Given the description of an element on the screen output the (x, y) to click on. 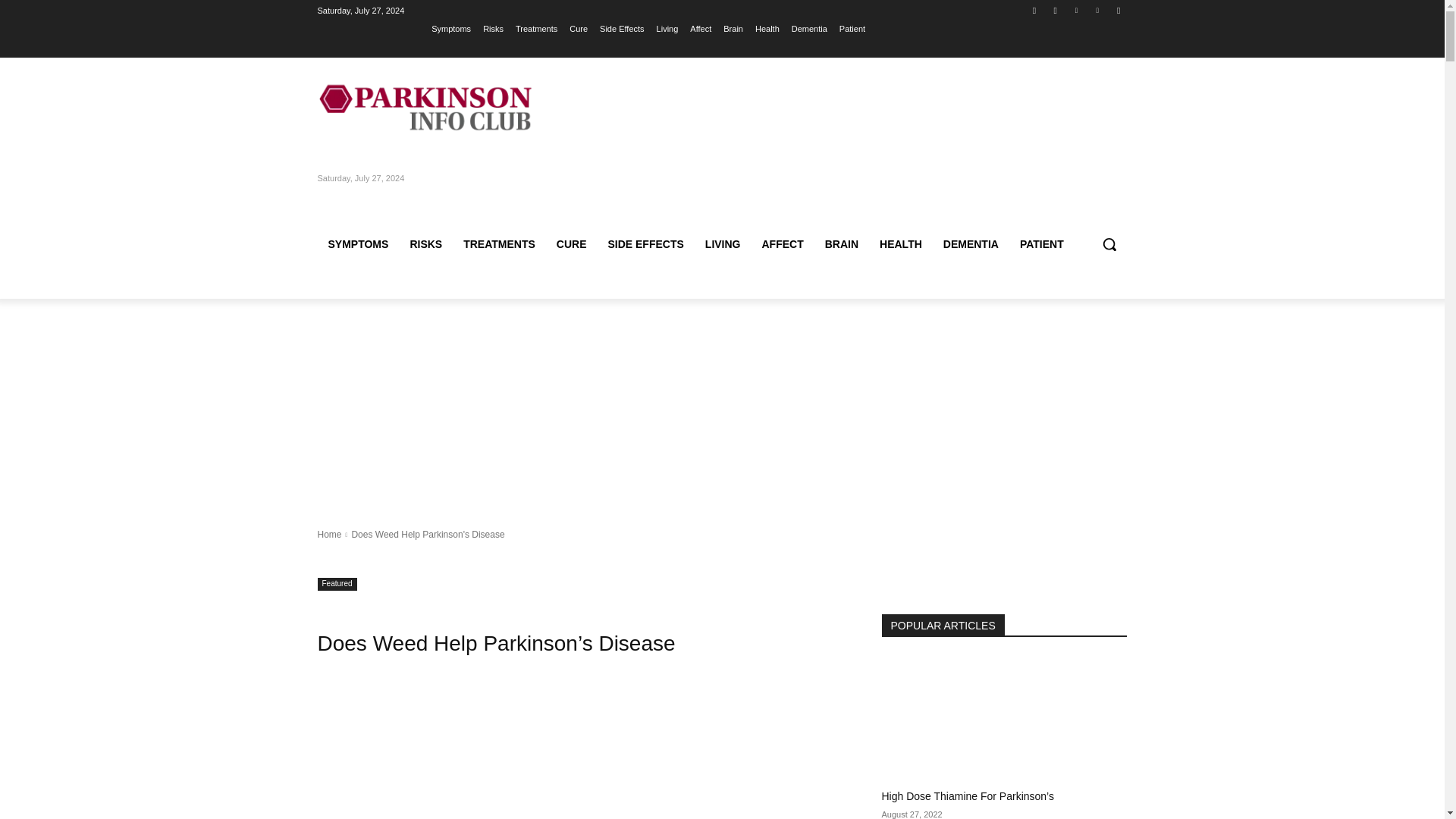
Twitter (1075, 9)
Vimeo (1097, 9)
Living (667, 28)
Instagram (1055, 9)
Brain (732, 28)
Dementia (809, 28)
Symptoms (450, 28)
Affect (700, 28)
Risks (493, 28)
